Given the description of an element on the screen output the (x, y) to click on. 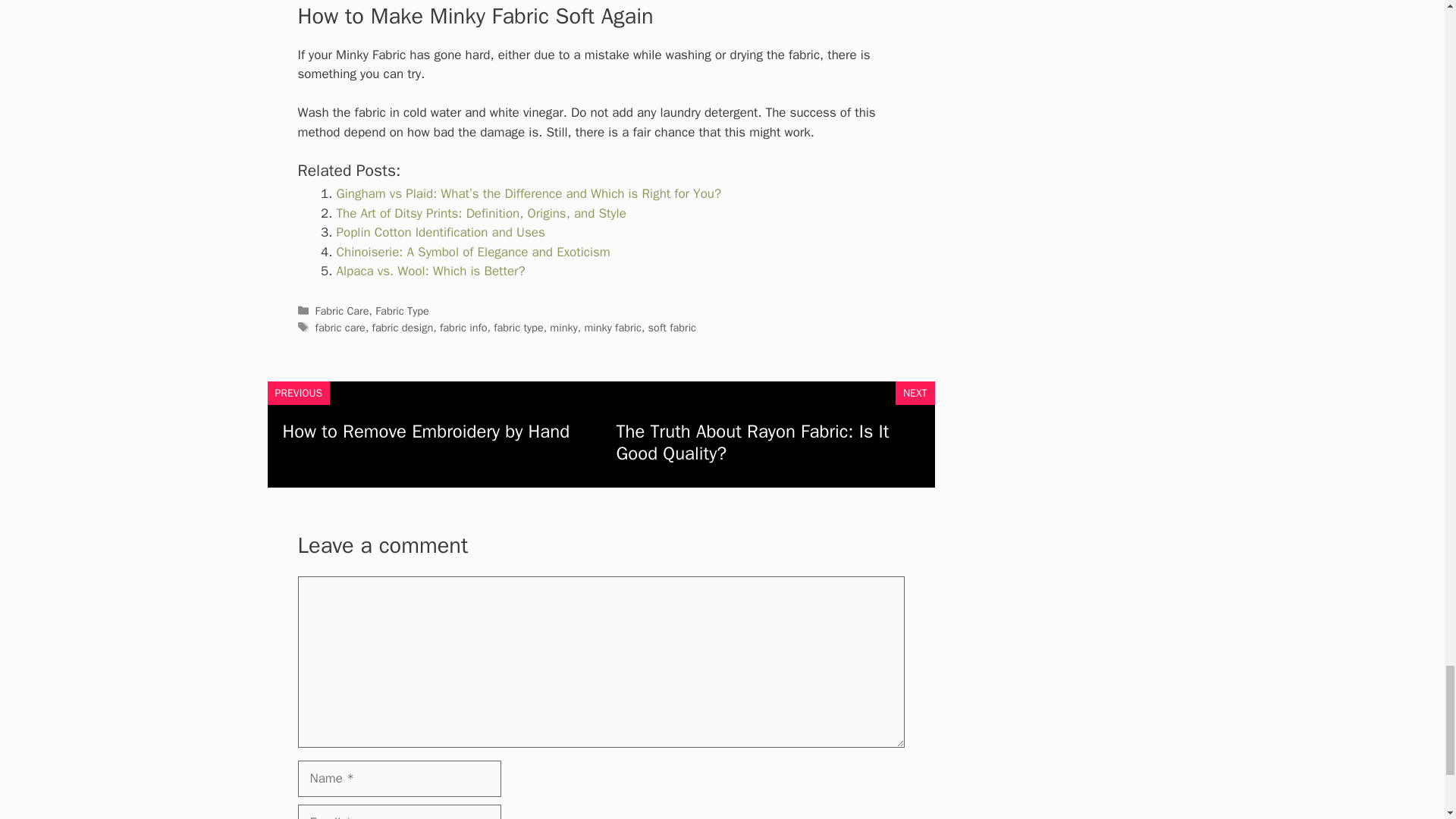
Chinoiserie: A Symbol of Elegance and Exoticism (473, 252)
Alpaca vs. Wool: Which is Better? (430, 270)
The Art of Ditsy Prints: Definition, Origins, and Style (481, 213)
Alpaca vs. Wool: Which is Better? (430, 270)
The Art of Ditsy Prints: Definition, Origins, and Style (481, 213)
fabric design (402, 327)
Chinoiserie: A Symbol of Elegance and Exoticism (473, 252)
minky (563, 327)
Fabric Type (402, 310)
fabric type (518, 327)
Poplin Cotton Identification and Uses (440, 232)
fabric care (340, 327)
Fabric Care (342, 310)
Poplin Cotton Identification and Uses (440, 232)
fabric info (463, 327)
